Given the description of an element on the screen output the (x, y) to click on. 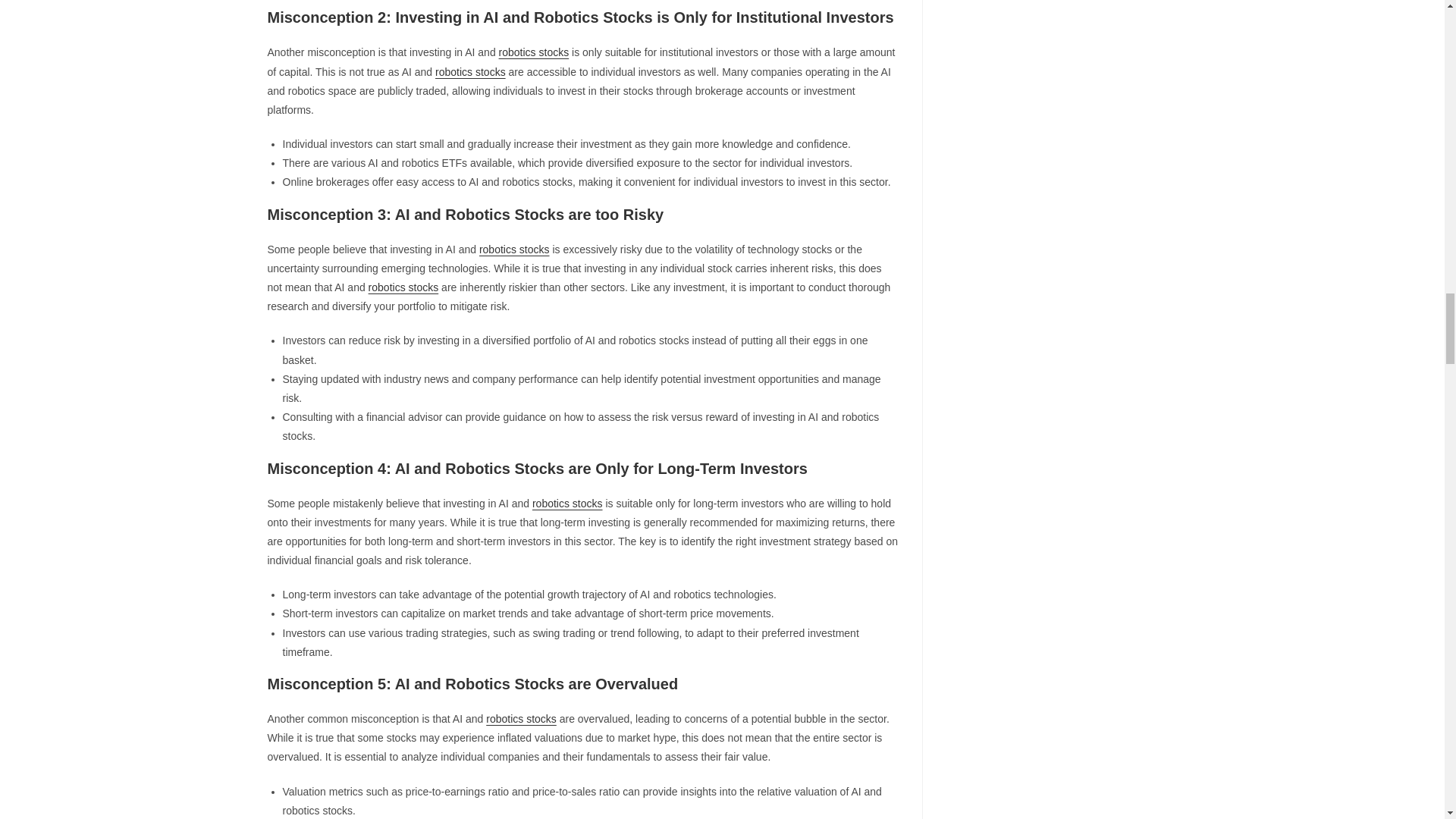
robotics stocks (567, 503)
robotics stocks (403, 287)
robotics stocks (470, 71)
robotics stocks (534, 51)
robotics stocks (514, 249)
robotics stocks (521, 718)
